Given the description of an element on the screen output the (x, y) to click on. 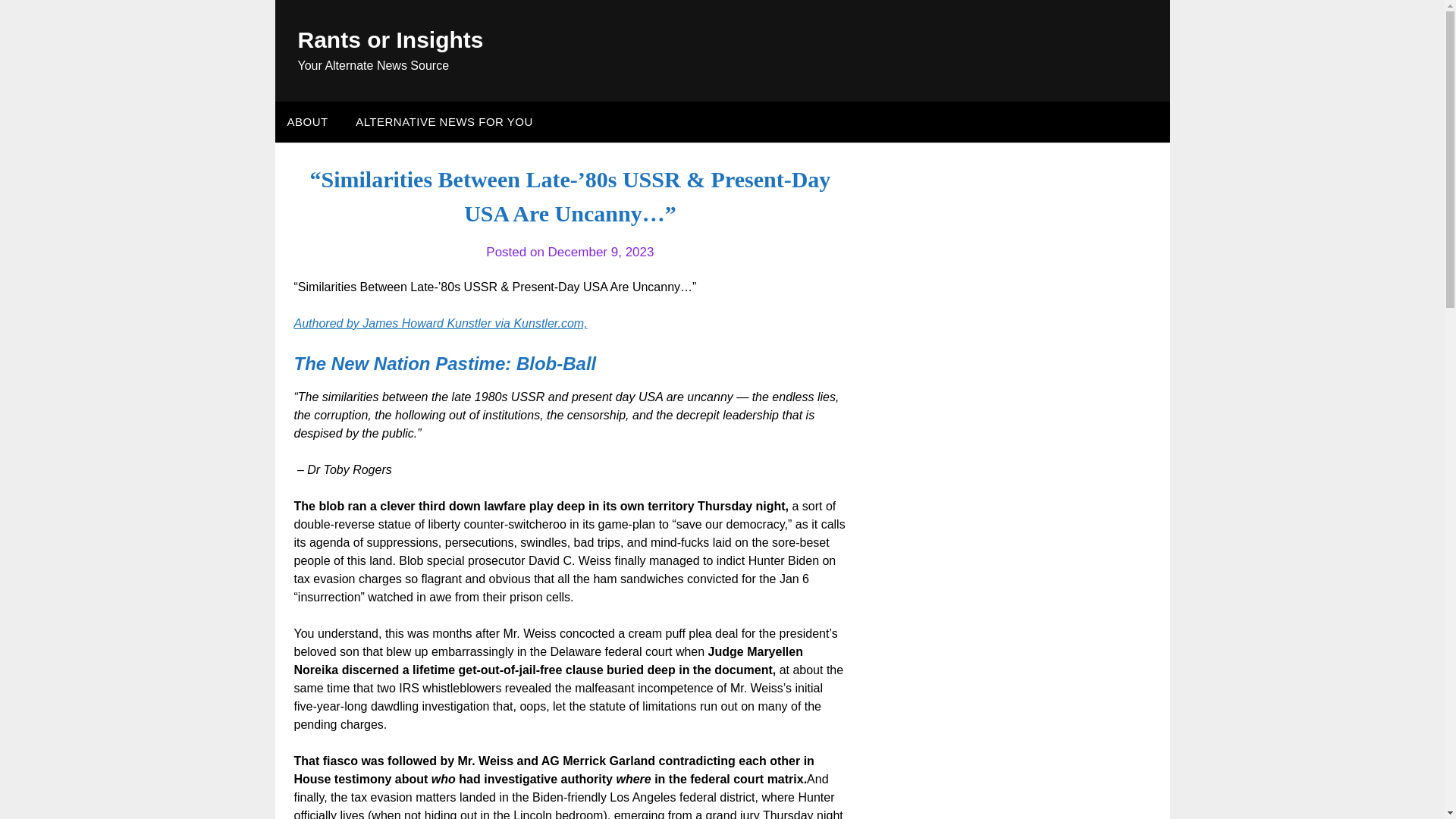
ABOUT (307, 121)
Authored by James Howard Kunstler via Kunstler.com, (441, 323)
ALTERNATIVE NEWS FOR YOU (443, 121)
Rants or Insights (390, 39)
